Given the description of an element on the screen output the (x, y) to click on. 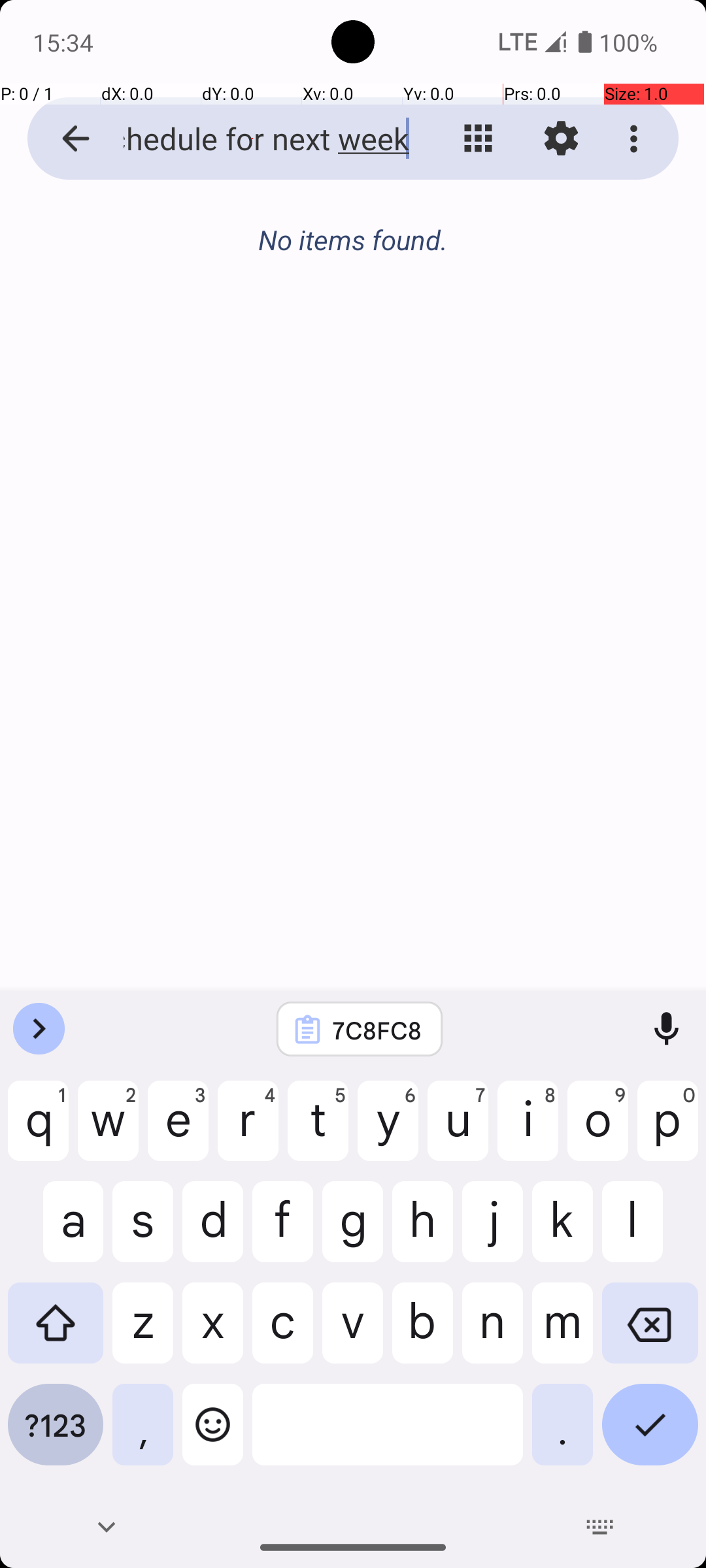
Meeting schedule for next week Element type: android.widget.EditText (252, 138)
7C8FC8 Element type: android.widget.TextView (376, 1029)
